Given the description of an element on the screen output the (x, y) to click on. 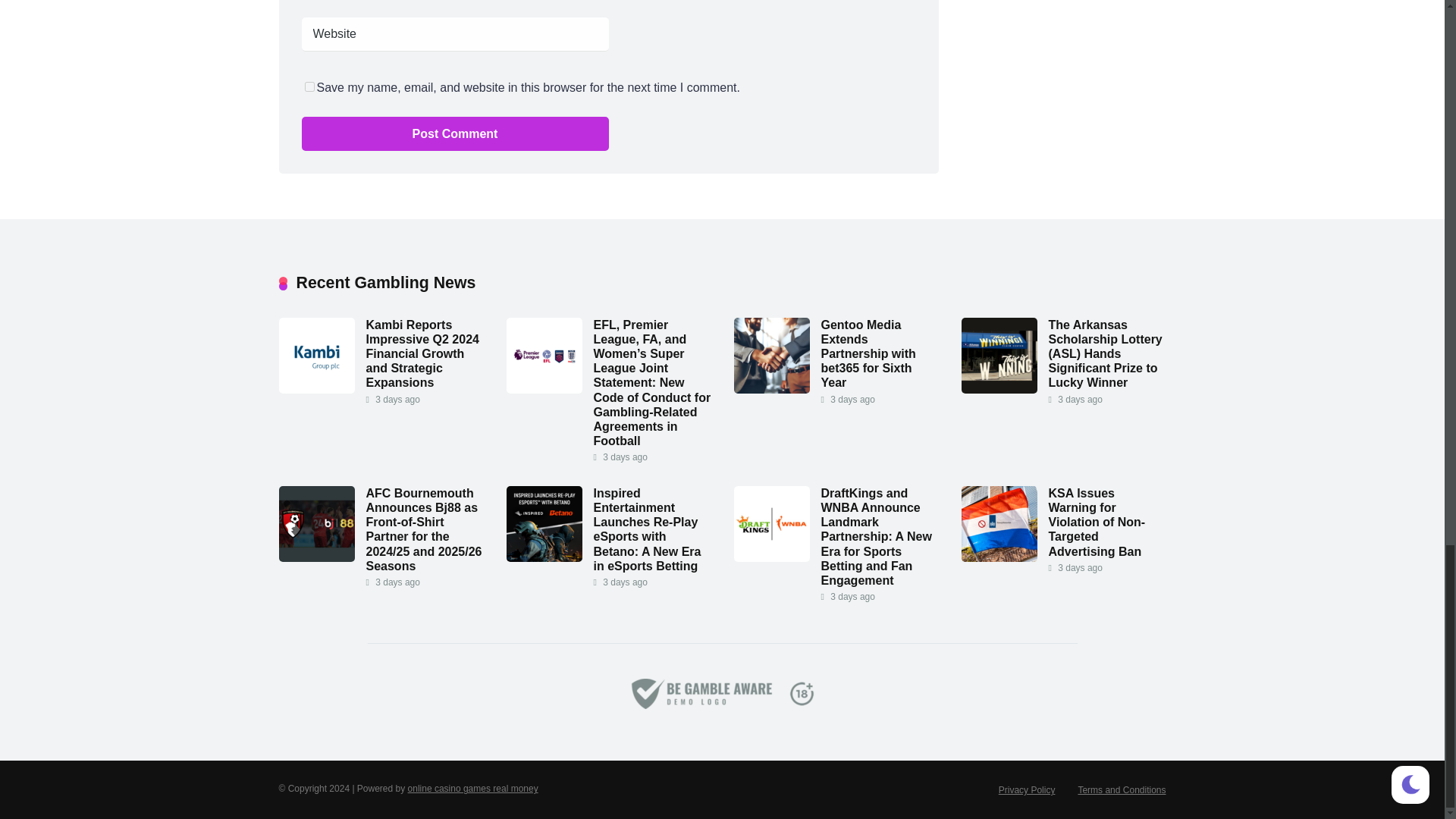
Post Comment (454, 133)
yes (309, 86)
Post Comment (454, 133)
